Given the description of an element on the screen output the (x, y) to click on. 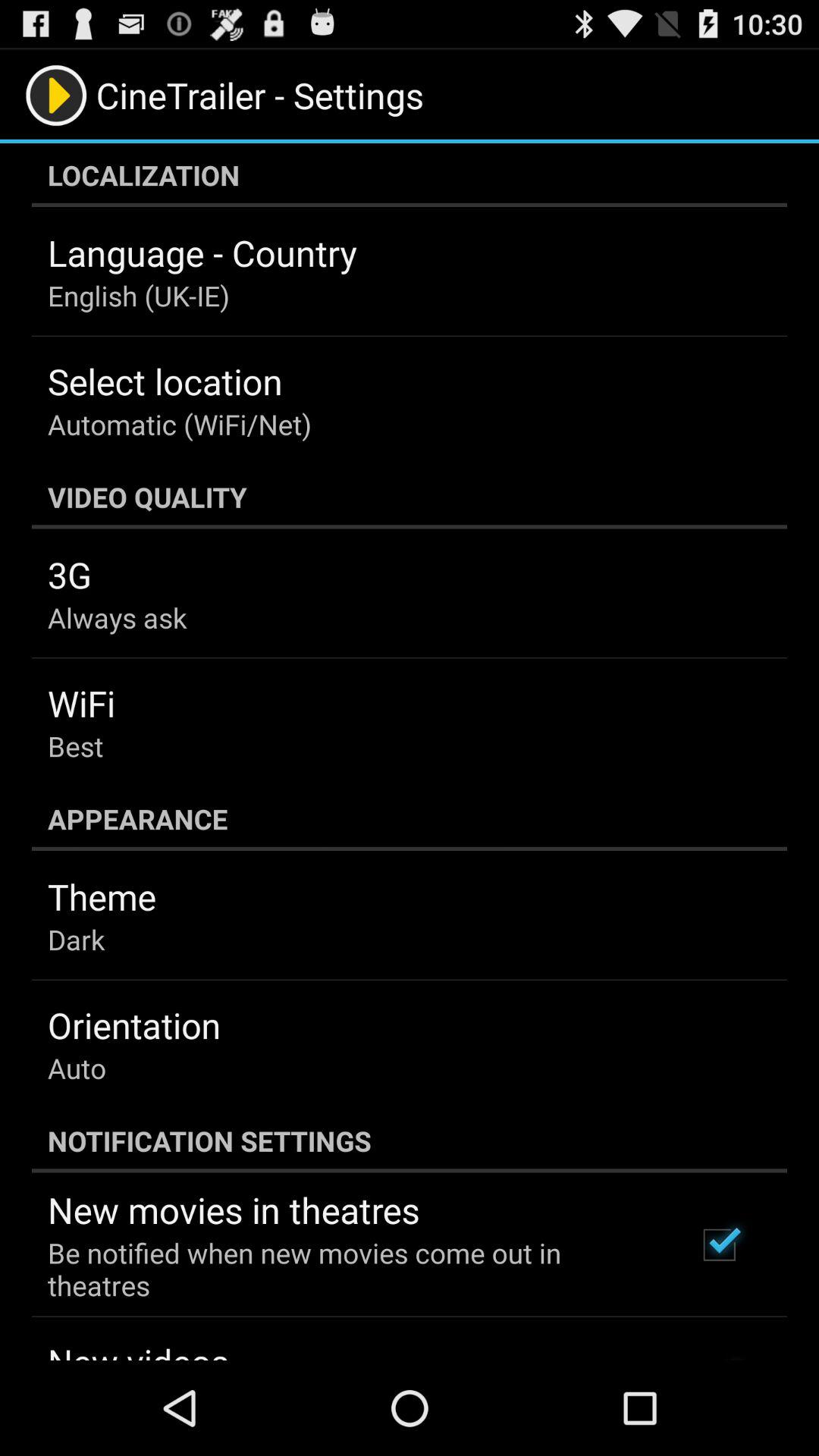
turn on the item below wifi app (75, 745)
